Given the description of an element on the screen output the (x, y) to click on. 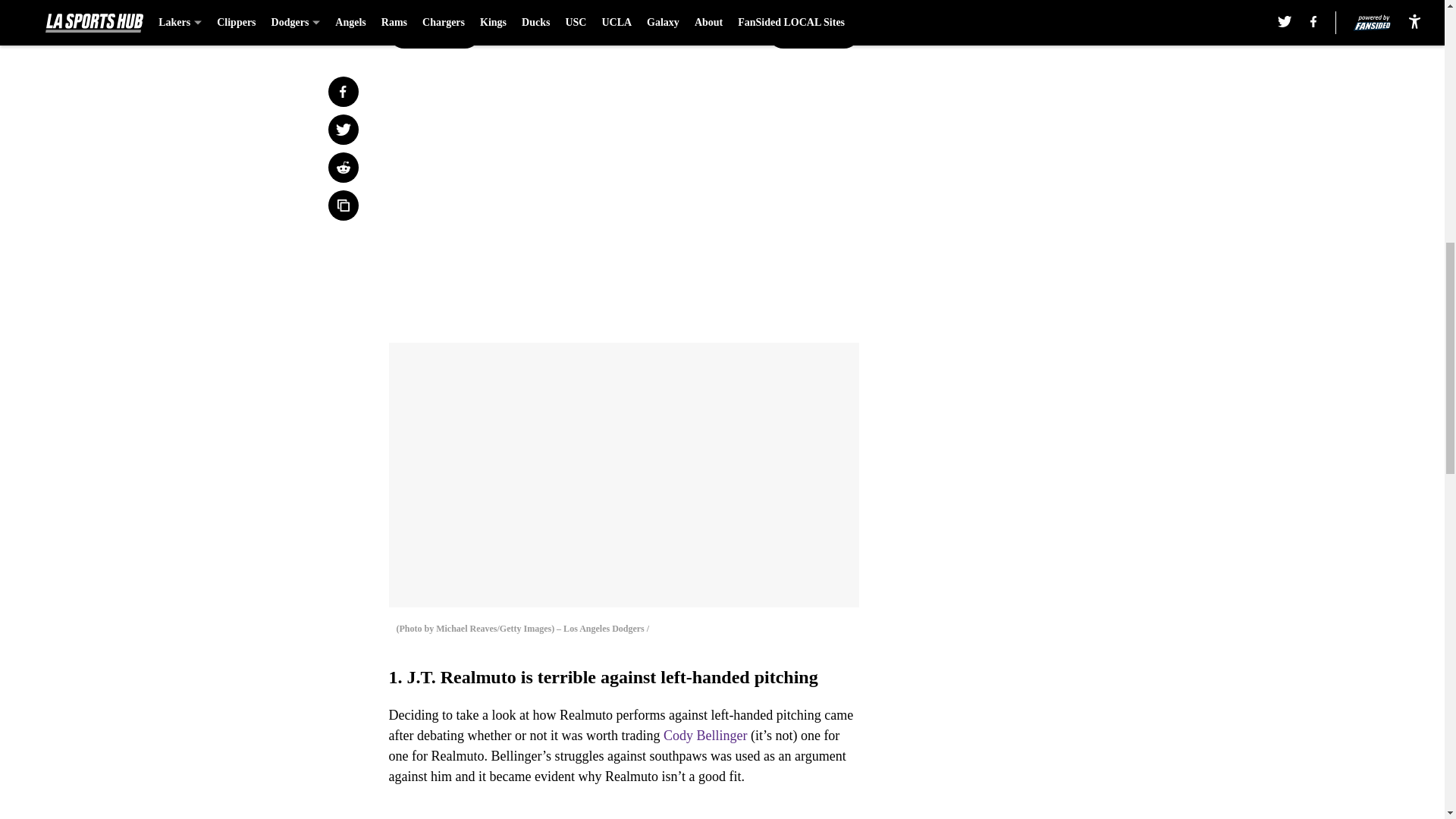
Next (813, 33)
Cody Bellinger (705, 735)
Prev (433, 33)
